Given the description of an element on the screen output the (x, y) to click on. 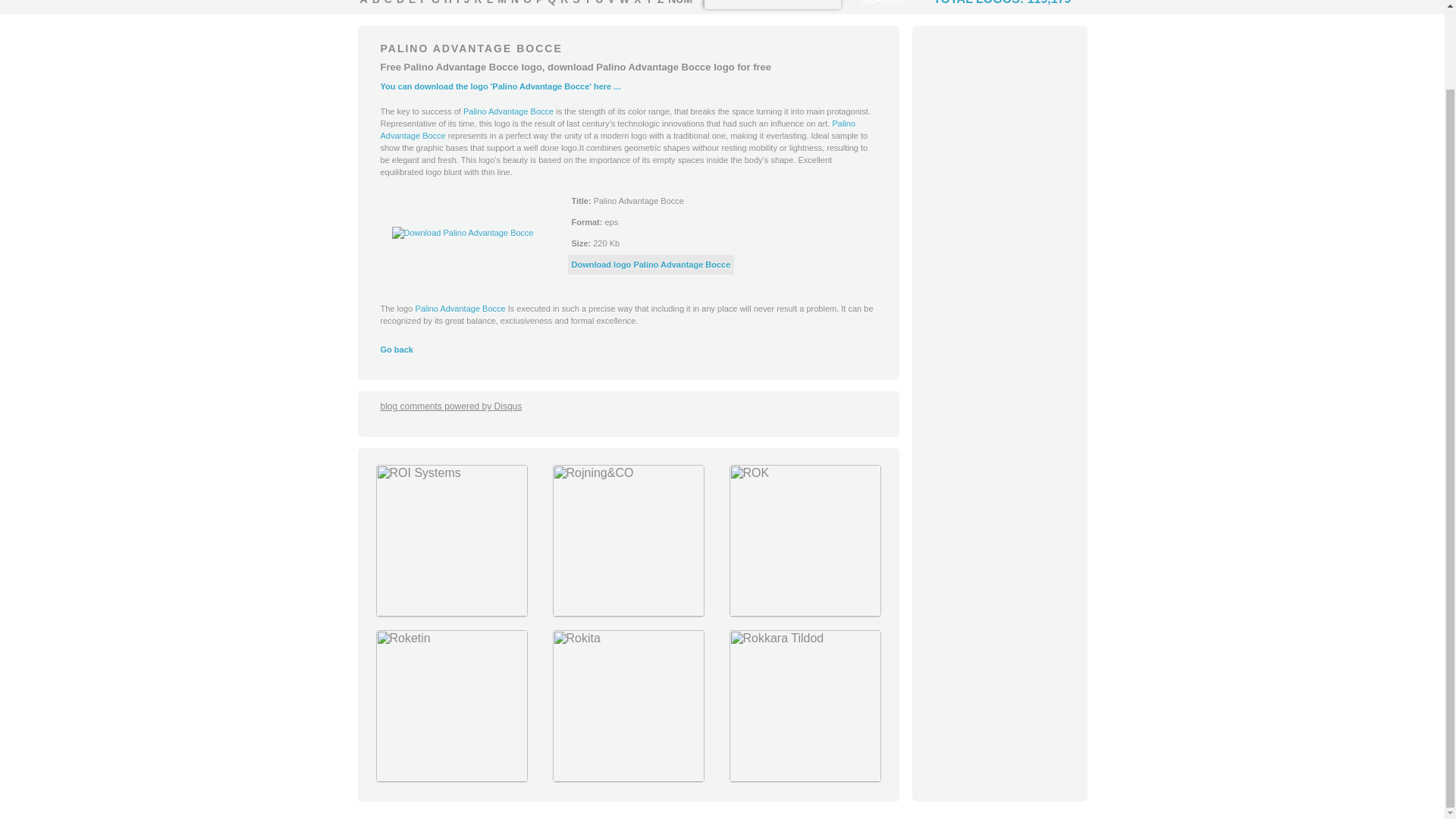
Download Logo ROK (804, 612)
Download Logo Rokita (627, 778)
Palino Advantage Bocce (618, 129)
Download Logo ROI Systems (450, 612)
C (387, 3)
Q (550, 3)
G (435, 3)
X (637, 3)
N (514, 3)
S (575, 3)
